Given the description of an element on the screen output the (x, y) to click on. 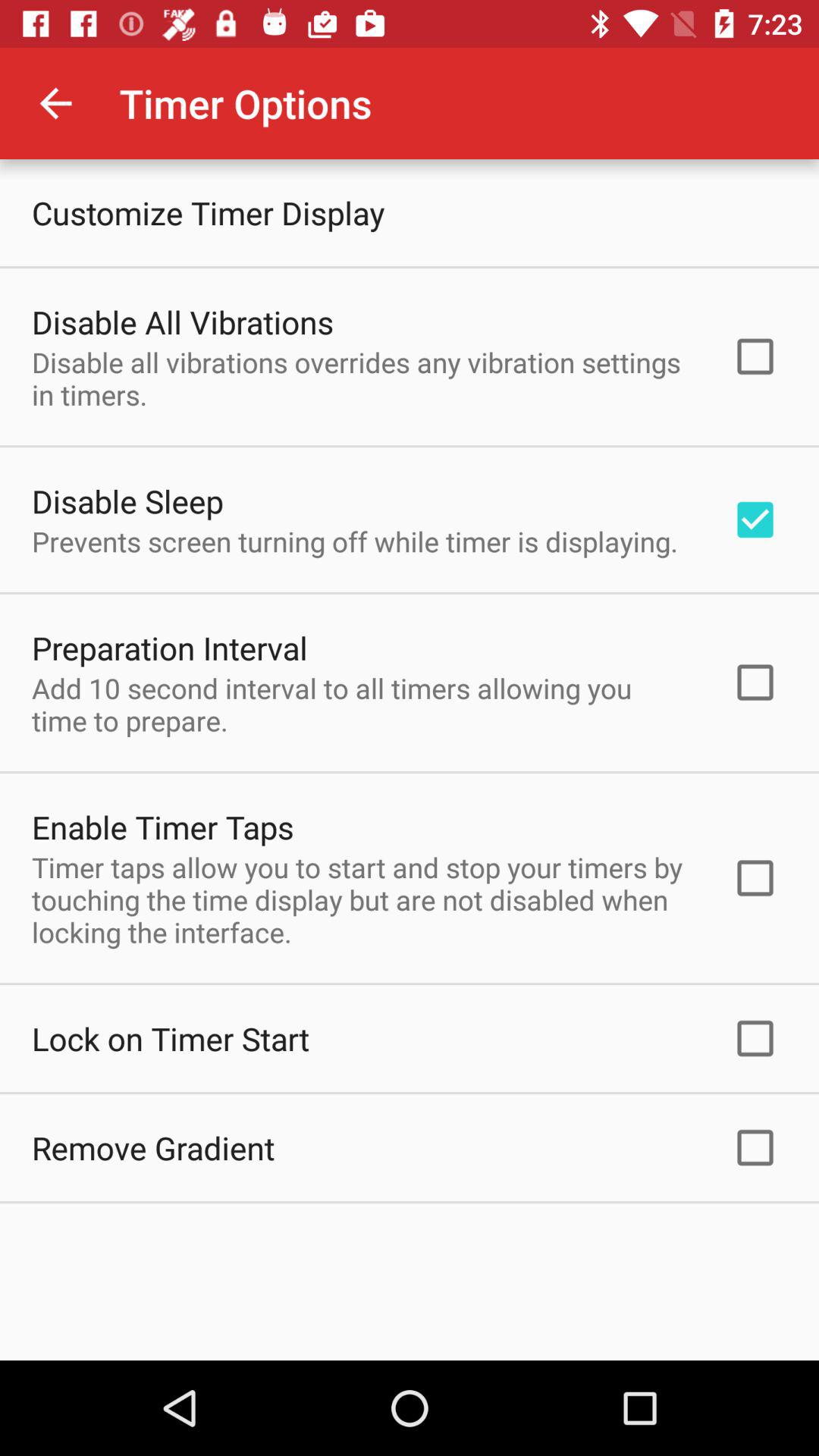
click prevents screen turning item (354, 541)
